Given the description of an element on the screen output the (x, y) to click on. 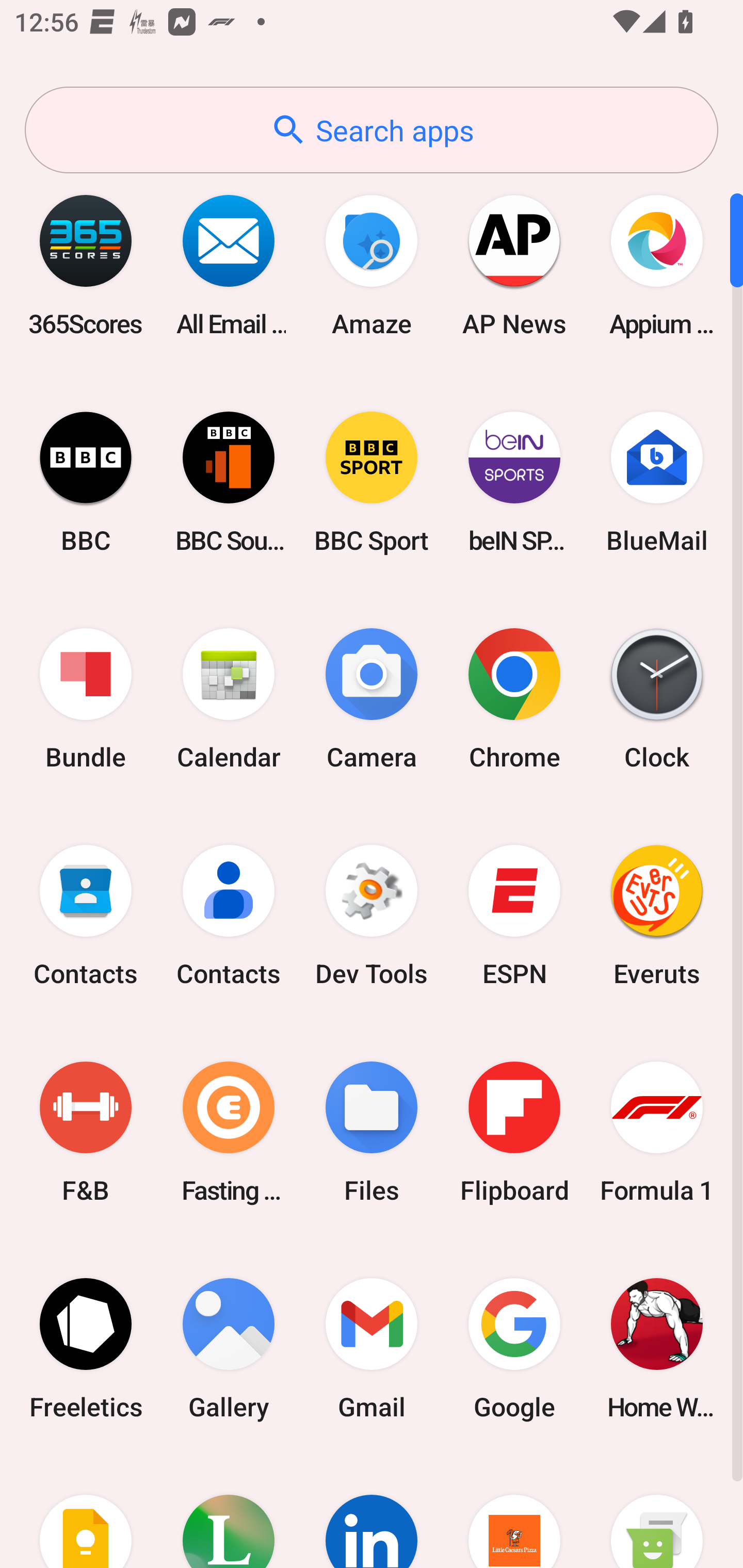
  Search apps (371, 130)
365Scores (85, 264)
All Email Connect (228, 264)
Amaze (371, 264)
AP News (514, 264)
Appium Settings (656, 264)
BBC (85, 482)
BBC Sounds (228, 482)
BBC Sport (371, 482)
beIN SPORTS (514, 482)
BlueMail (656, 482)
Bundle (85, 699)
Calendar (228, 699)
Camera (371, 699)
Chrome (514, 699)
Clock (656, 699)
Contacts (85, 915)
Contacts (228, 915)
Dev Tools (371, 915)
ESPN (514, 915)
Everuts (656, 915)
F&B (85, 1131)
Fasting Coach (228, 1131)
Files (371, 1131)
Flipboard (514, 1131)
Formula 1 (656, 1131)
Freeletics (85, 1348)
Gallery (228, 1348)
Gmail (371, 1348)
Google (514, 1348)
Home Workout (656, 1348)
